Given the description of an element on the screen output the (x, y) to click on. 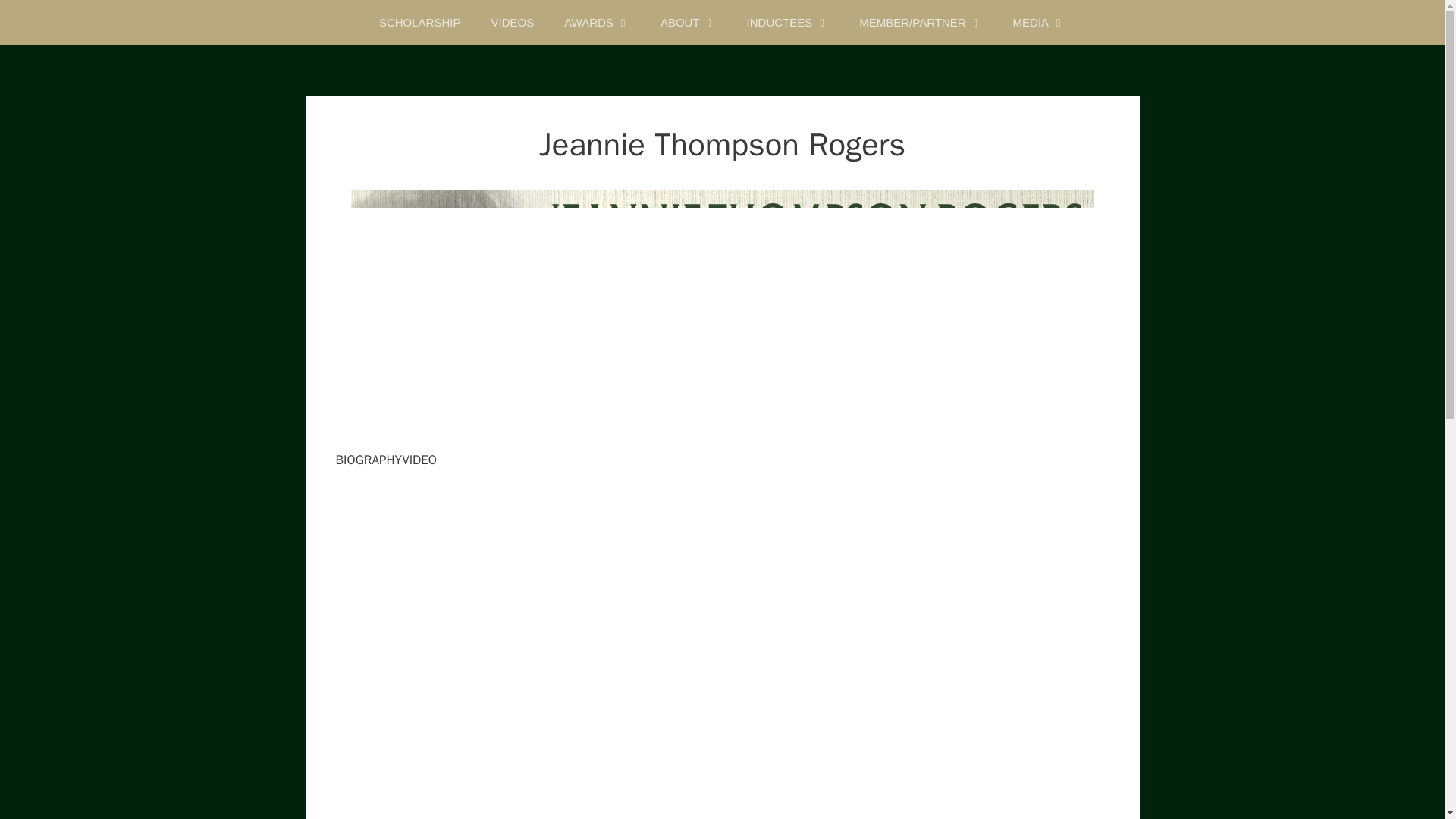
SCHOLARSHIP (420, 22)
INDUCTEES (788, 22)
AWARDS (596, 22)
VIDEOS (512, 22)
ABOUT (688, 22)
